Given the description of an element on the screen output the (x, y) to click on. 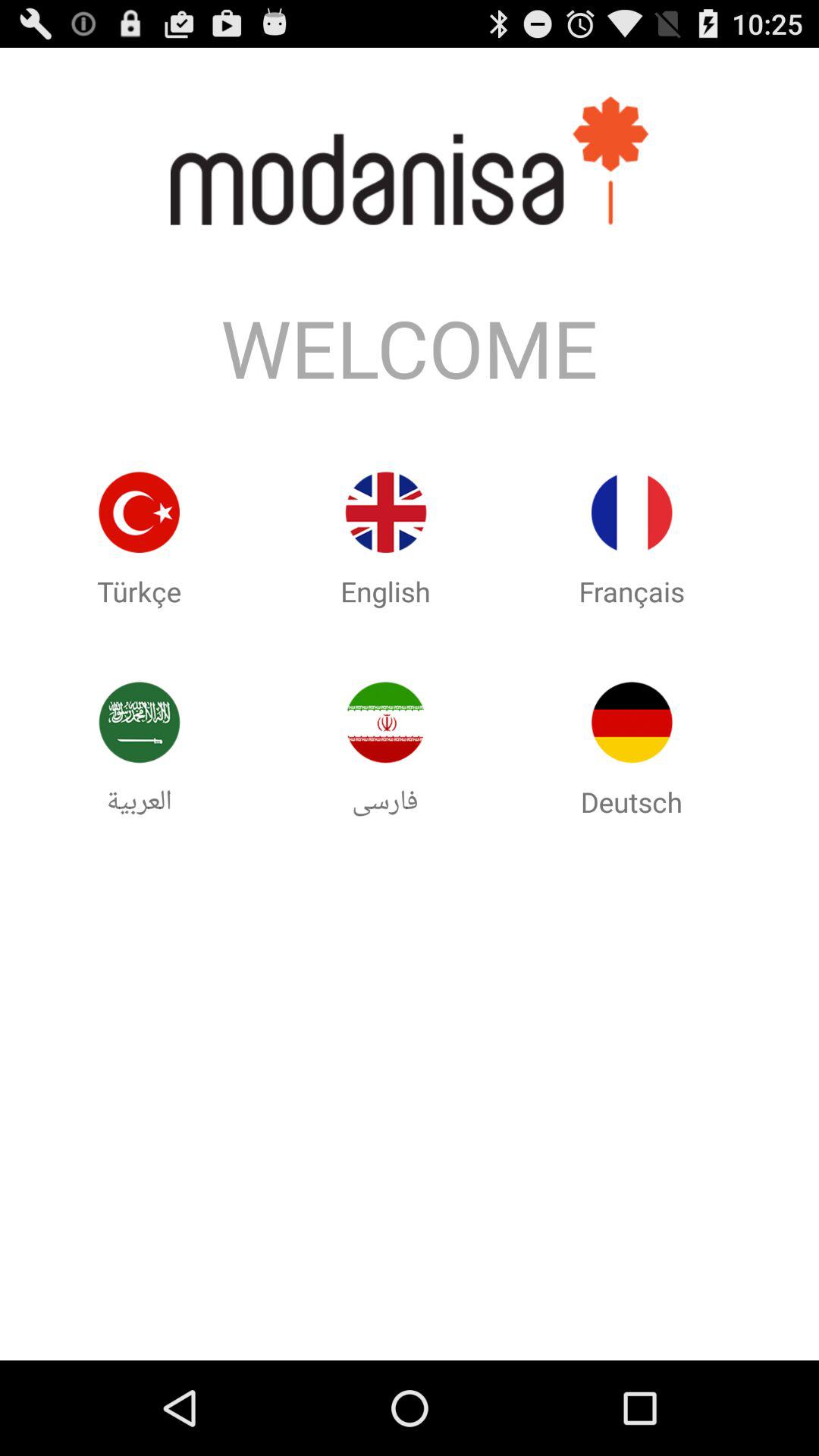
use the english version (385, 512)
